Given the description of an element on the screen output the (x, y) to click on. 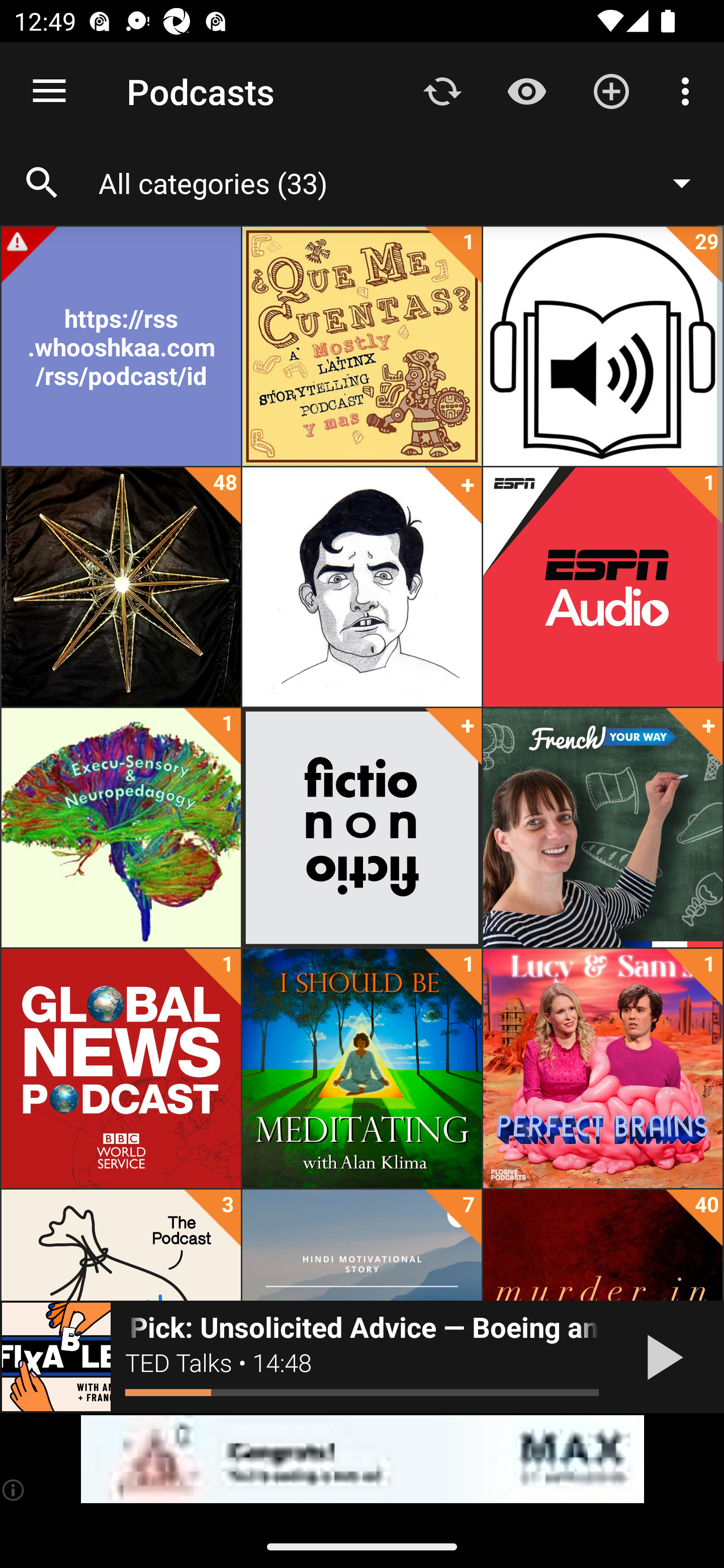
Open navigation sidebar (49, 91)
Update (442, 90)
Show / Hide played content (526, 90)
Add new Podcast (611, 90)
More options (688, 90)
Search (42, 183)
All categories (33) (404, 182)
https://rss.whooshkaa.com/rss/podcast/id/5884 (121, 346)
¿Qué Me Cuentas?: Latinx Storytelling 1 (361, 346)
Audiobooks 29 (602, 346)
Audiobooks 48 (121, 587)
Cooking Issues with Dave Arnold + (361, 587)
ESPN Audio 1 (602, 587)
fiction/non/fiction + (361, 827)
Global News Podcast 1 (121, 1068)
Lucy & Sam's Perfect Brains 1 (602, 1068)
Play / Pause (660, 1356)
app-monetization (362, 1459)
(i) (14, 1489)
